Given the description of an element on the screen output the (x, y) to click on. 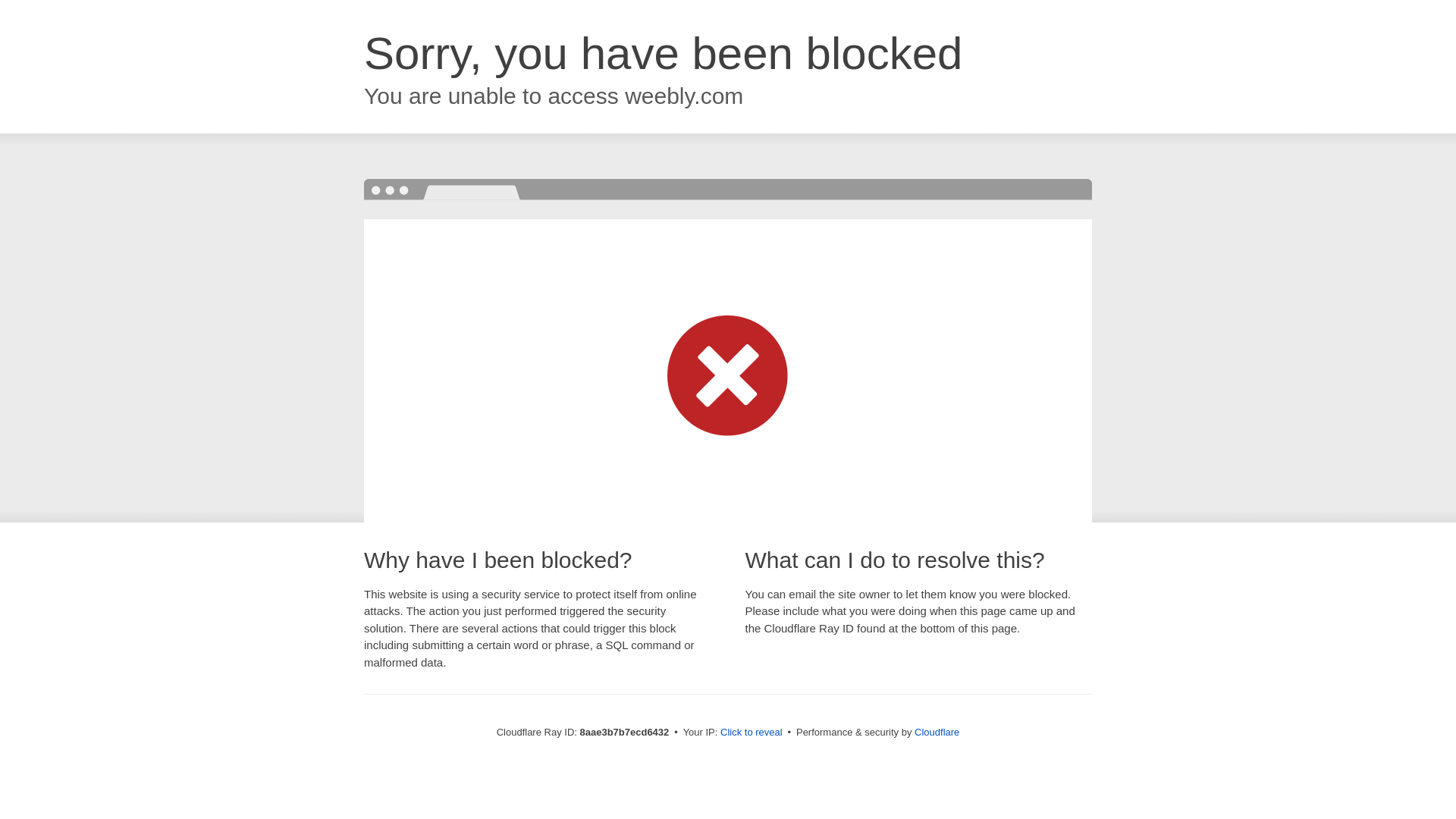
Cloudflare (936, 731)
Click to reveal (751, 732)
